Given the description of an element on the screen output the (x, y) to click on. 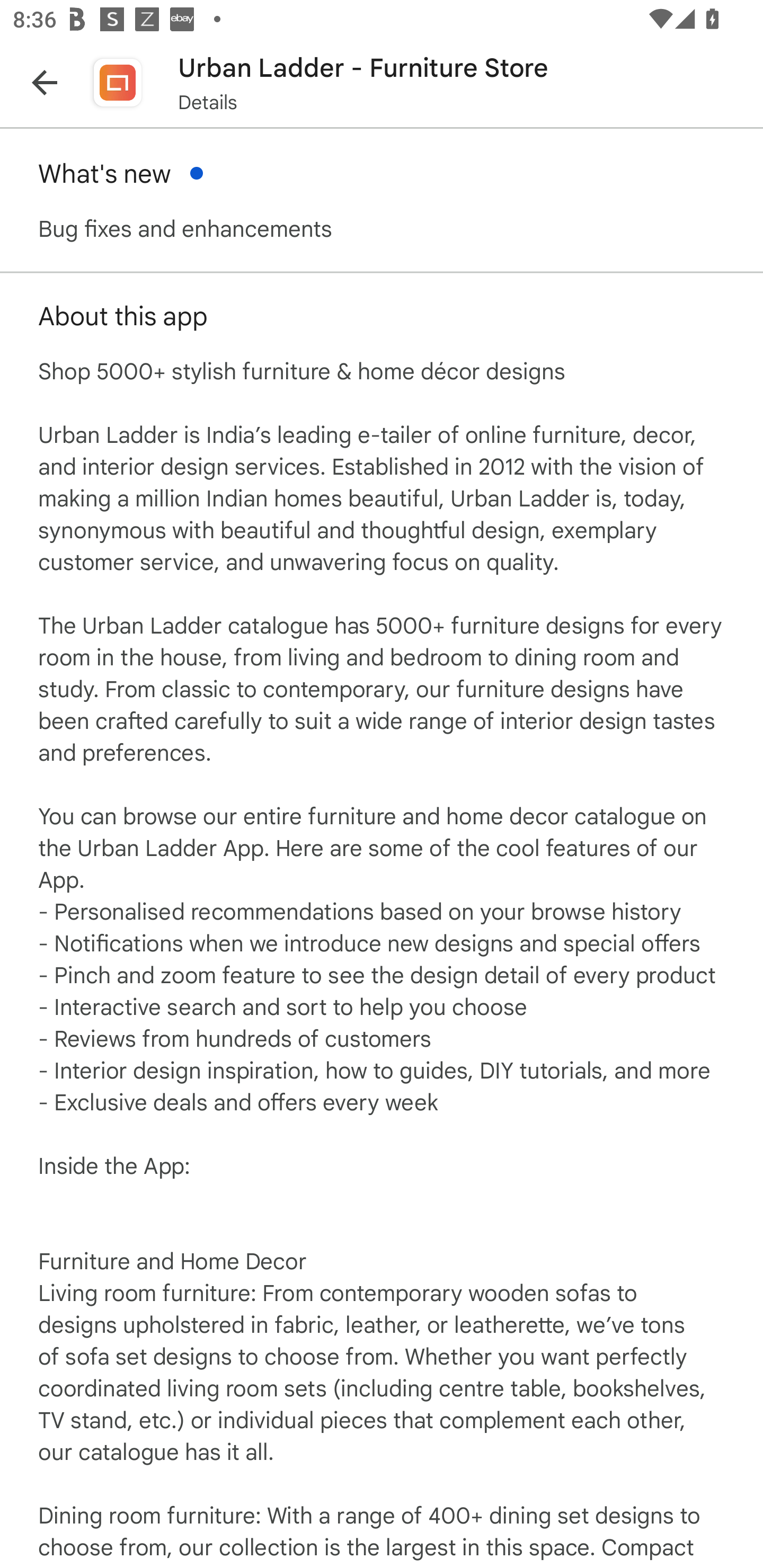
Navigate up (44, 82)
